Given the description of an element on the screen output the (x, y) to click on. 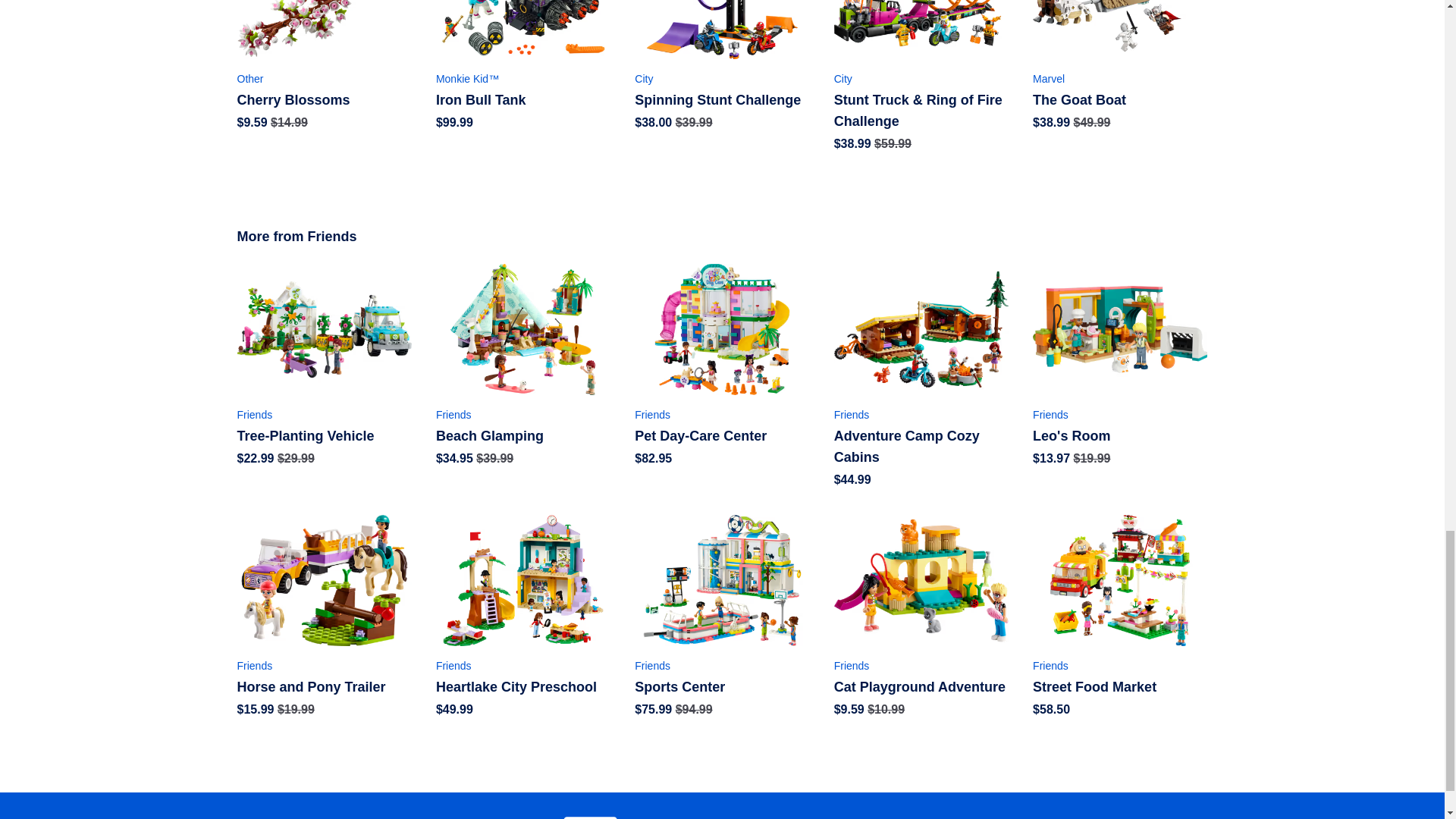
The Goat Boat (1119, 99)
Beach Glamping (522, 435)
Friends (322, 414)
Friends (322, 665)
Leo's Room (1119, 435)
Spinning Stunt Challenge (721, 99)
City (721, 78)
Friends (1119, 414)
Pet Day-Care Center (721, 435)
Adventure Camp Cozy Cabins (921, 446)
